Given the description of an element on the screen output the (x, y) to click on. 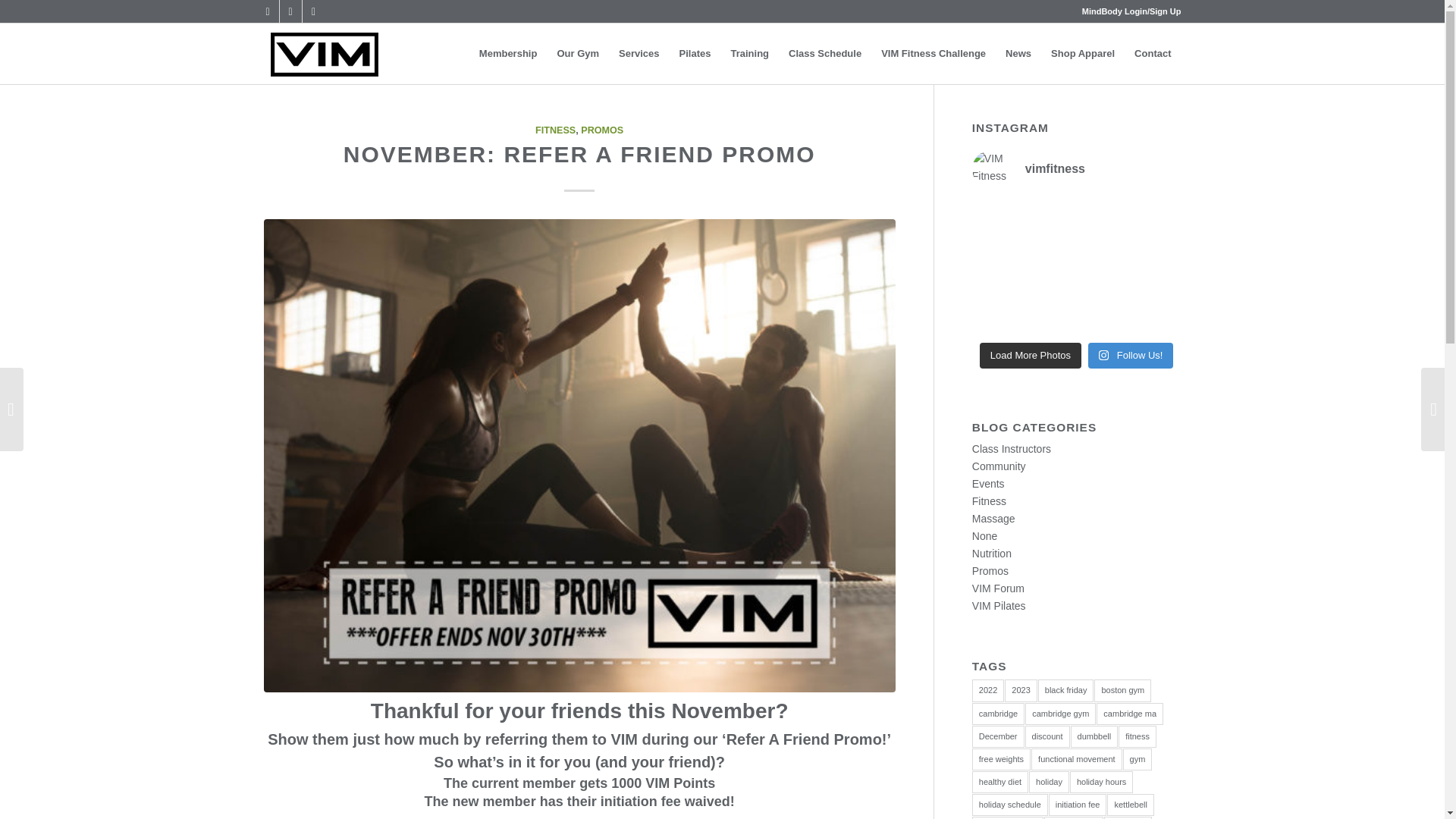
Training (749, 53)
Contact (1152, 53)
Shop Apparel (1082, 53)
NOVEMBER: REFER A FRIEND PROMO (579, 154)
Services (638, 53)
Our Gym (577, 53)
Twitter (267, 11)
Permanent Link: November: Refer A Friend Promo (579, 154)
Instagram (312, 11)
FITNESS (555, 130)
PROMOS (601, 130)
Membership (507, 53)
VIM Fitness Challenge (932, 53)
Facebook (290, 11)
